Given the description of an element on the screen output the (x, y) to click on. 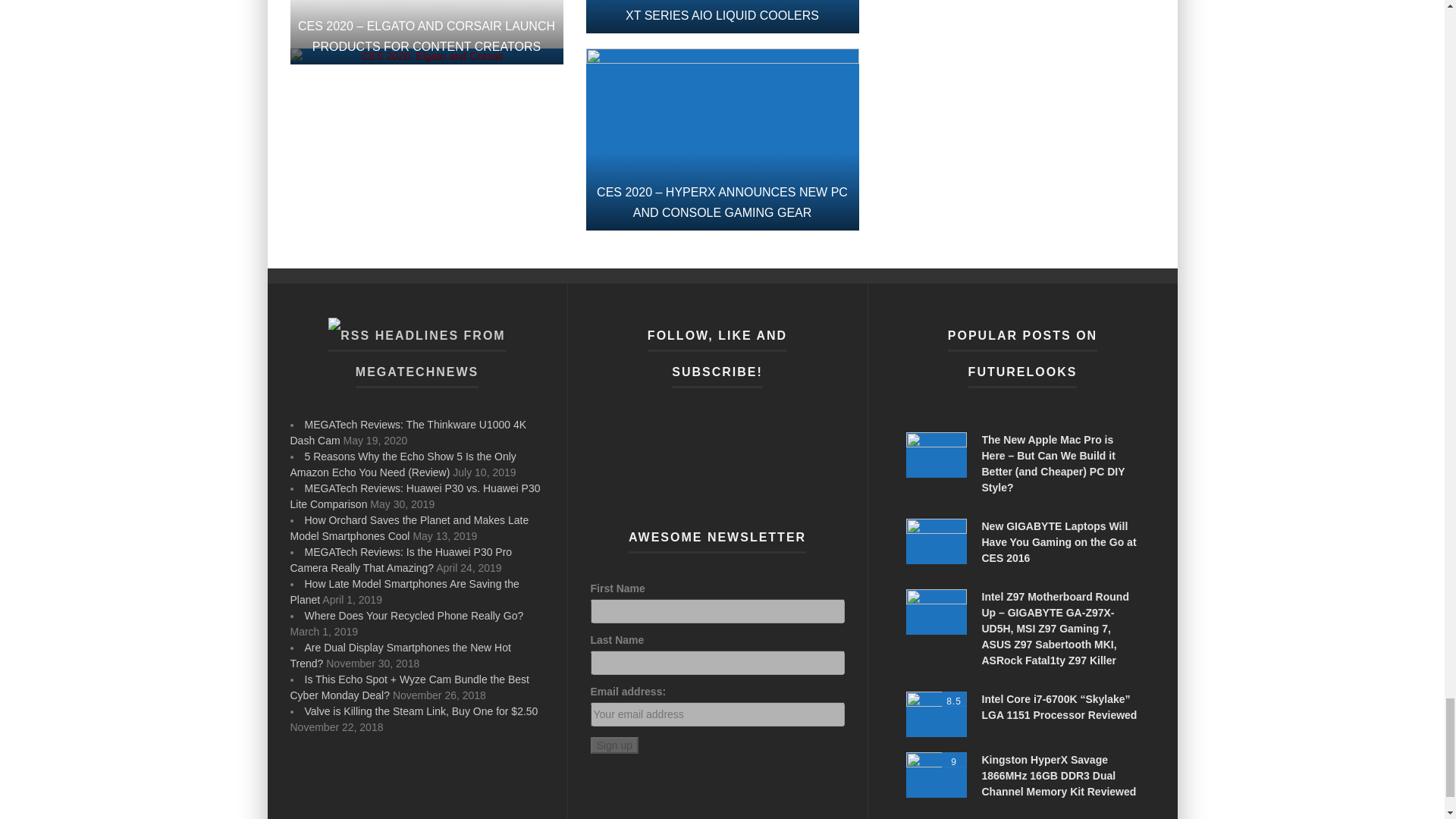
Sign up (613, 745)
